Given the description of an element on the screen output the (x, y) to click on. 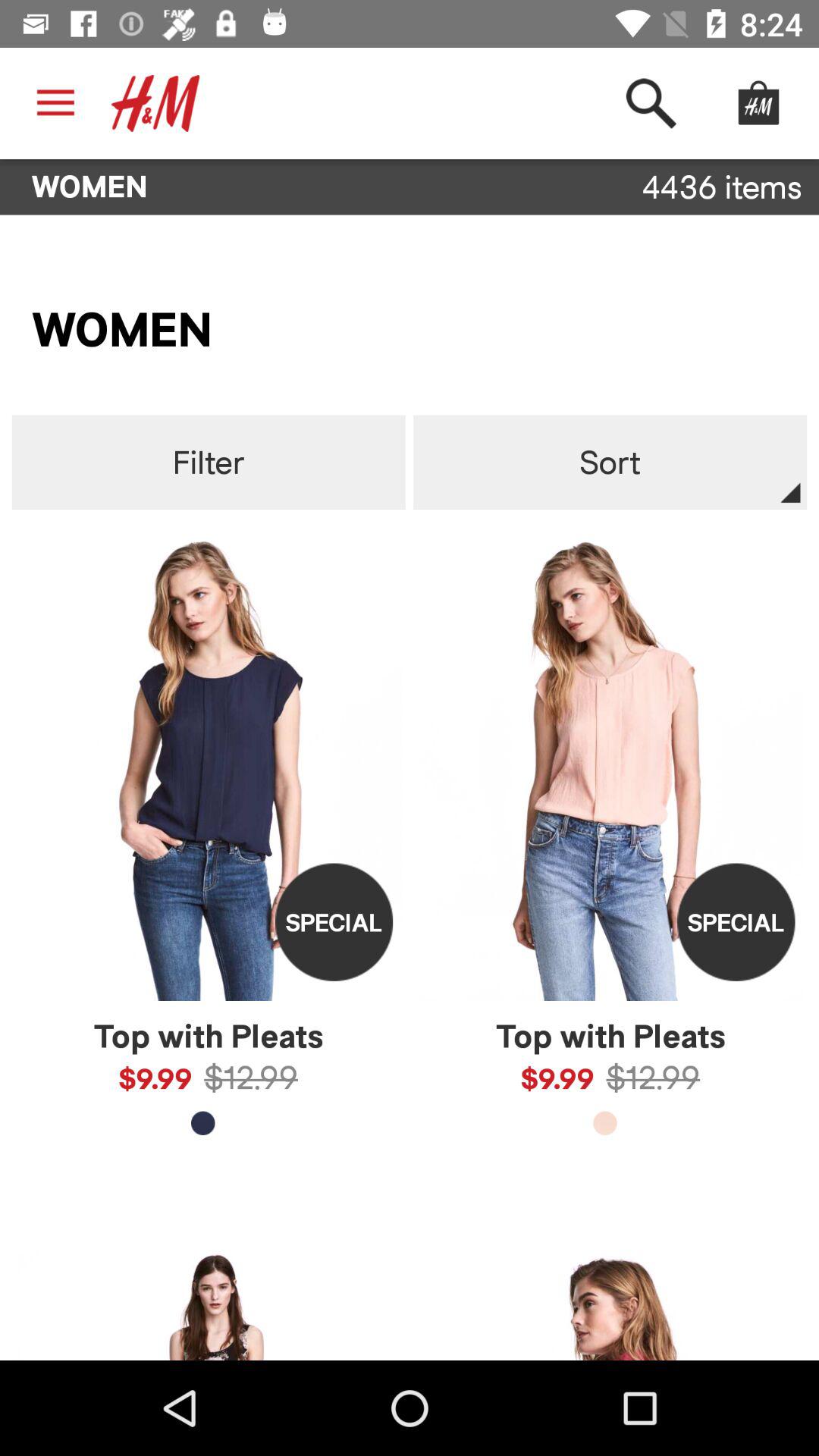
select the item above women icon (55, 103)
